Given the description of an element on the screen output the (x, y) to click on. 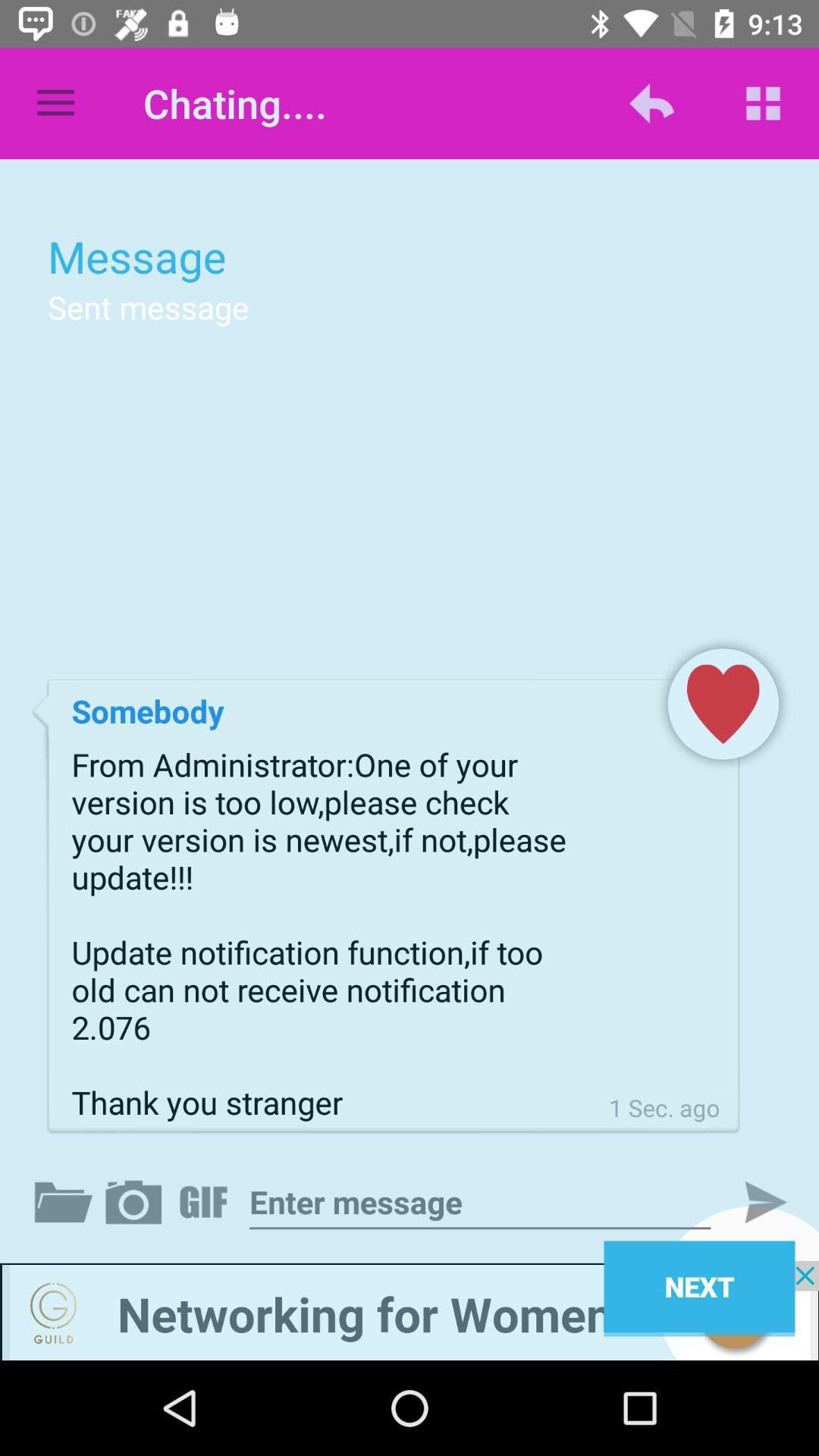
next the option (752, 1202)
